Given the description of an element on the screen output the (x, y) to click on. 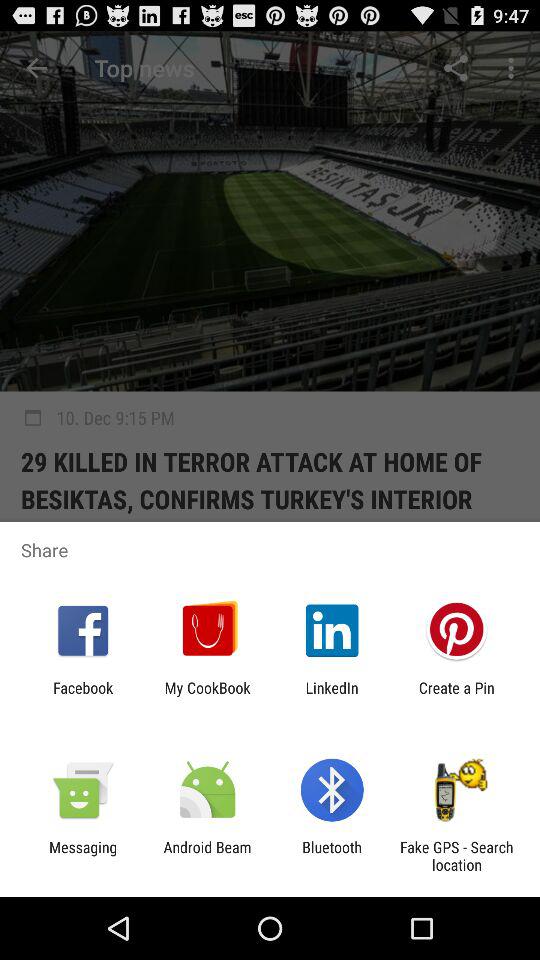
press item to the right of bluetooth app (456, 856)
